Given the description of an element on the screen output the (x, y) to click on. 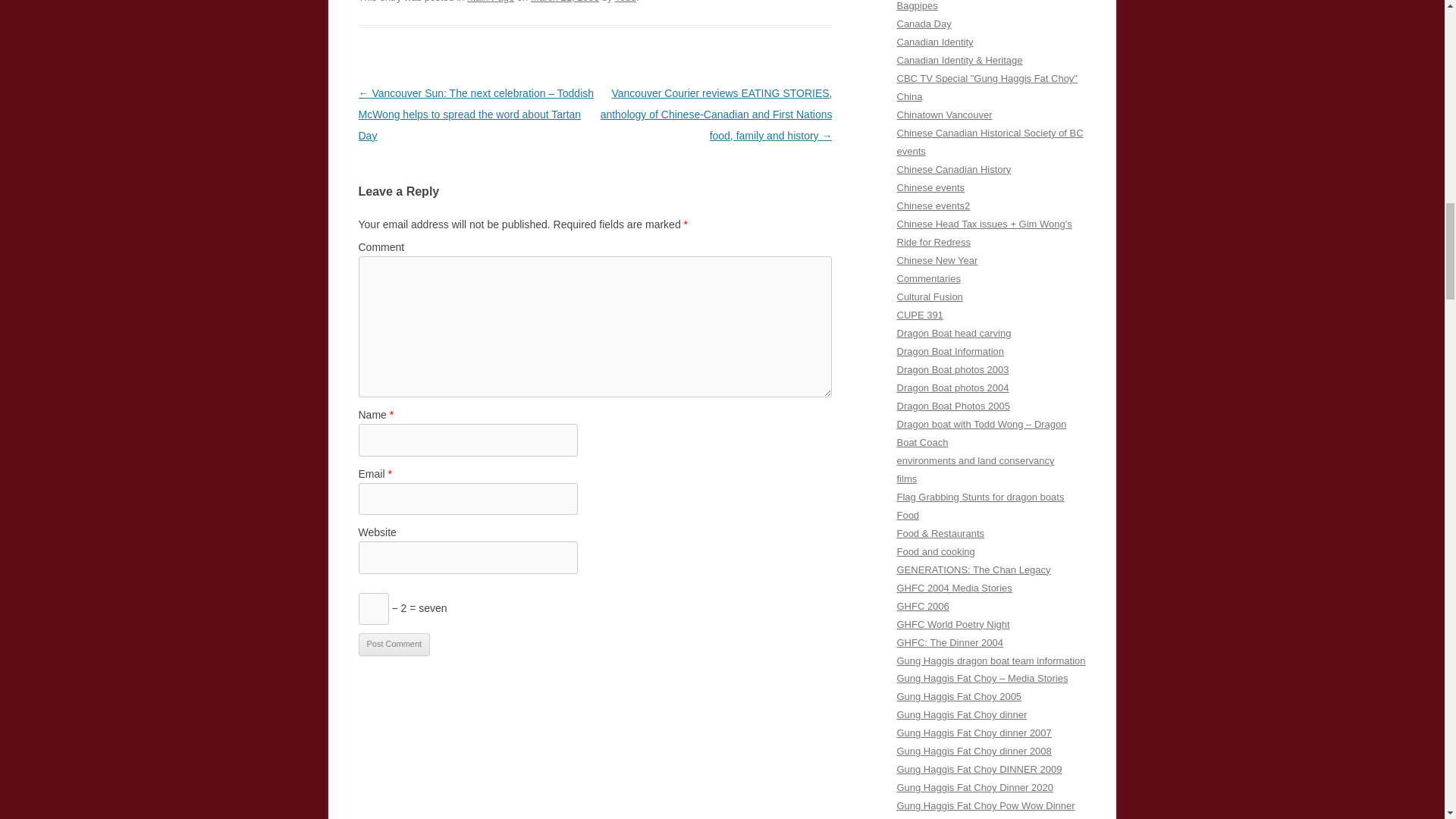
Todd (625, 1)
Post Comment (393, 644)
Post Comment (393, 644)
Main Page (490, 1)
6:48 AM (564, 1)
View all posts by Todd (625, 1)
March 21, 2008 (564, 1)
